Given the description of an element on the screen output the (x, y) to click on. 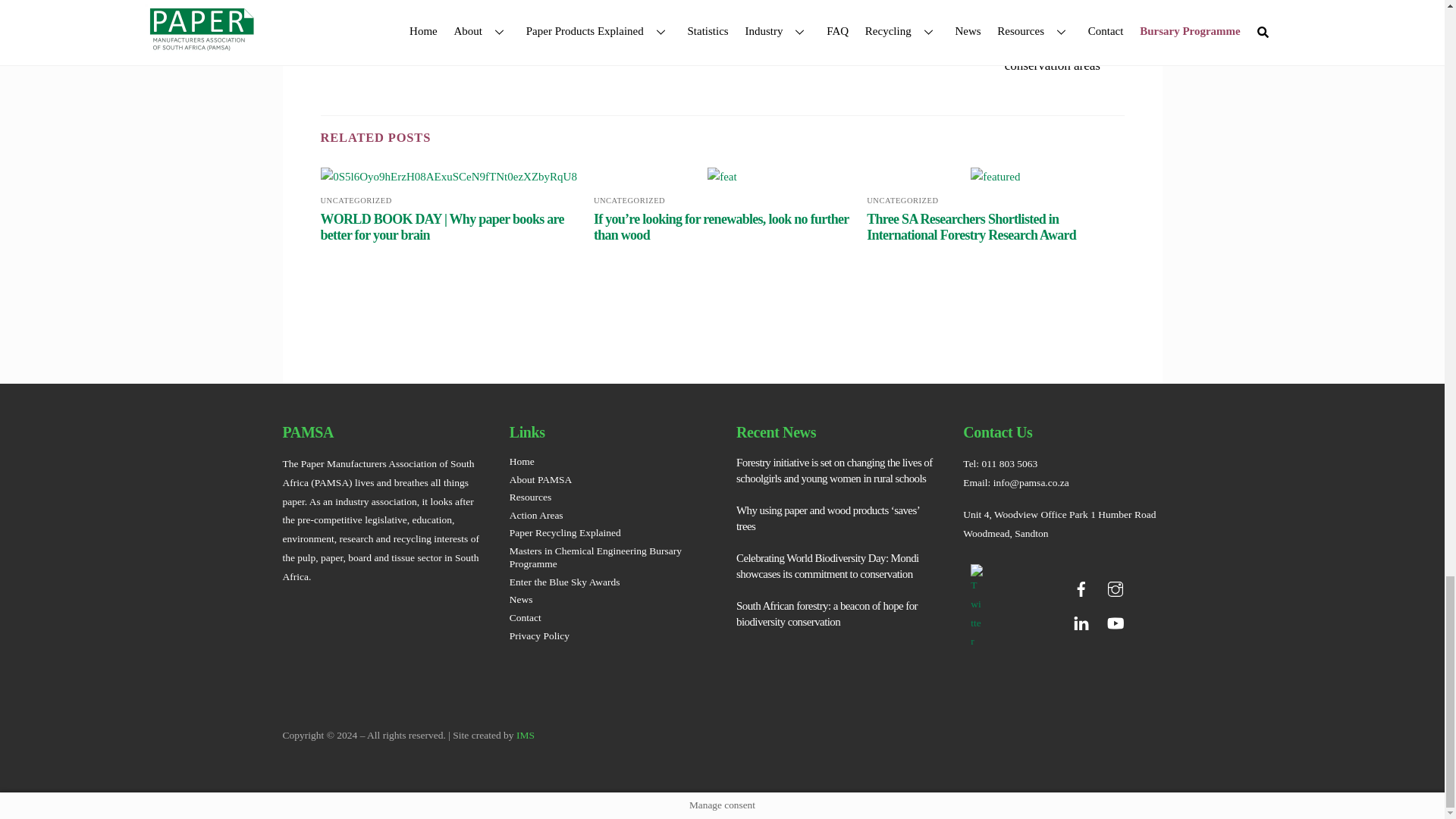
WhatsApp (486, 1)
Pinterest (425, 1)
Twitter (365, 1)
feat (721, 176)
featured (995, 176)
Email (395, 1)
0S5l6Oyo9hErzH08AExuSCeN9fTNt0ezXZbyRqU8 (448, 176)
Facebook (335, 1)
LinkedIn (456, 1)
